Given the description of an element on the screen output the (x, y) to click on. 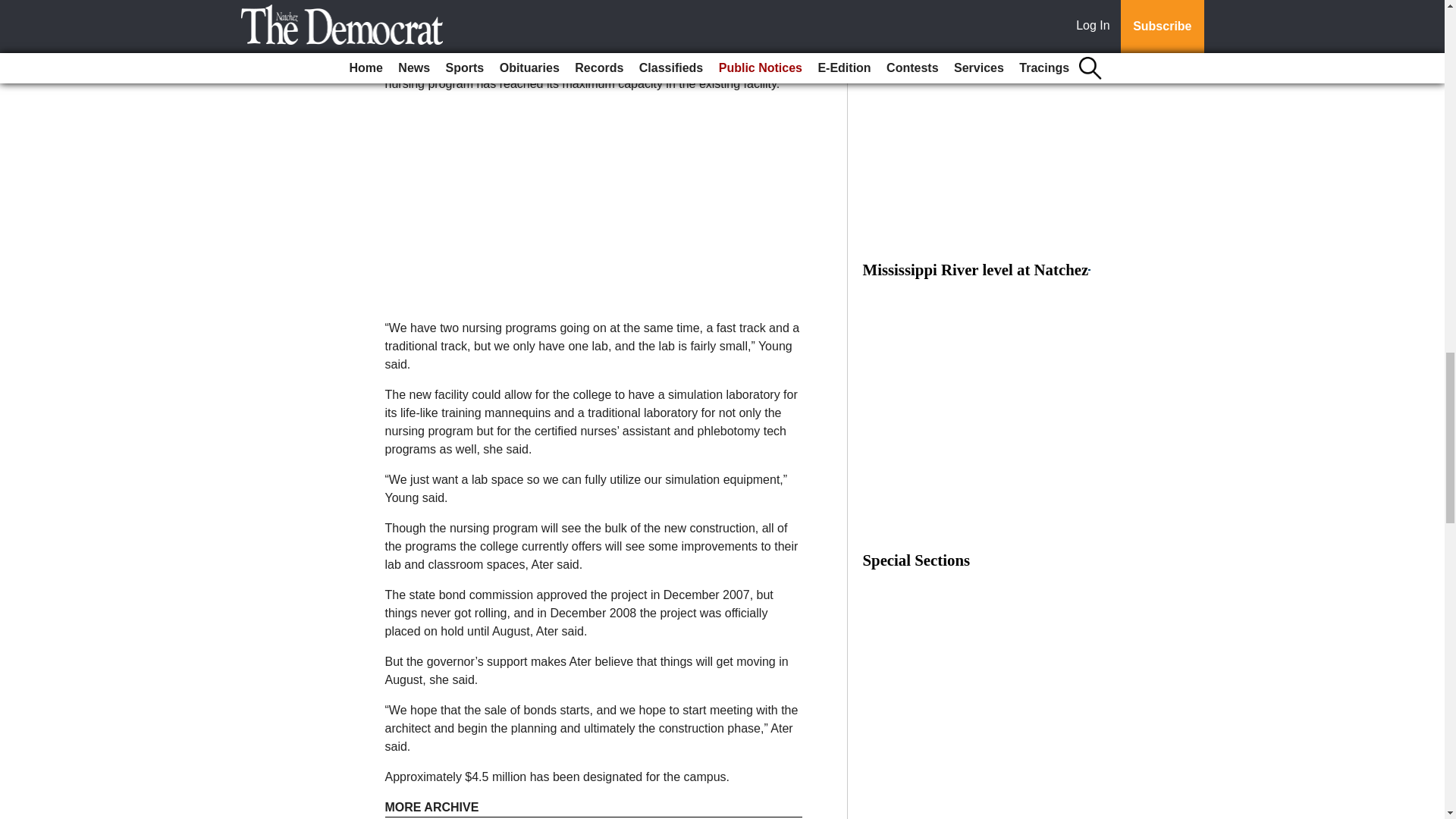
View Results Of This Poll (975, 3)
